Given the description of an element on the screen output the (x, y) to click on. 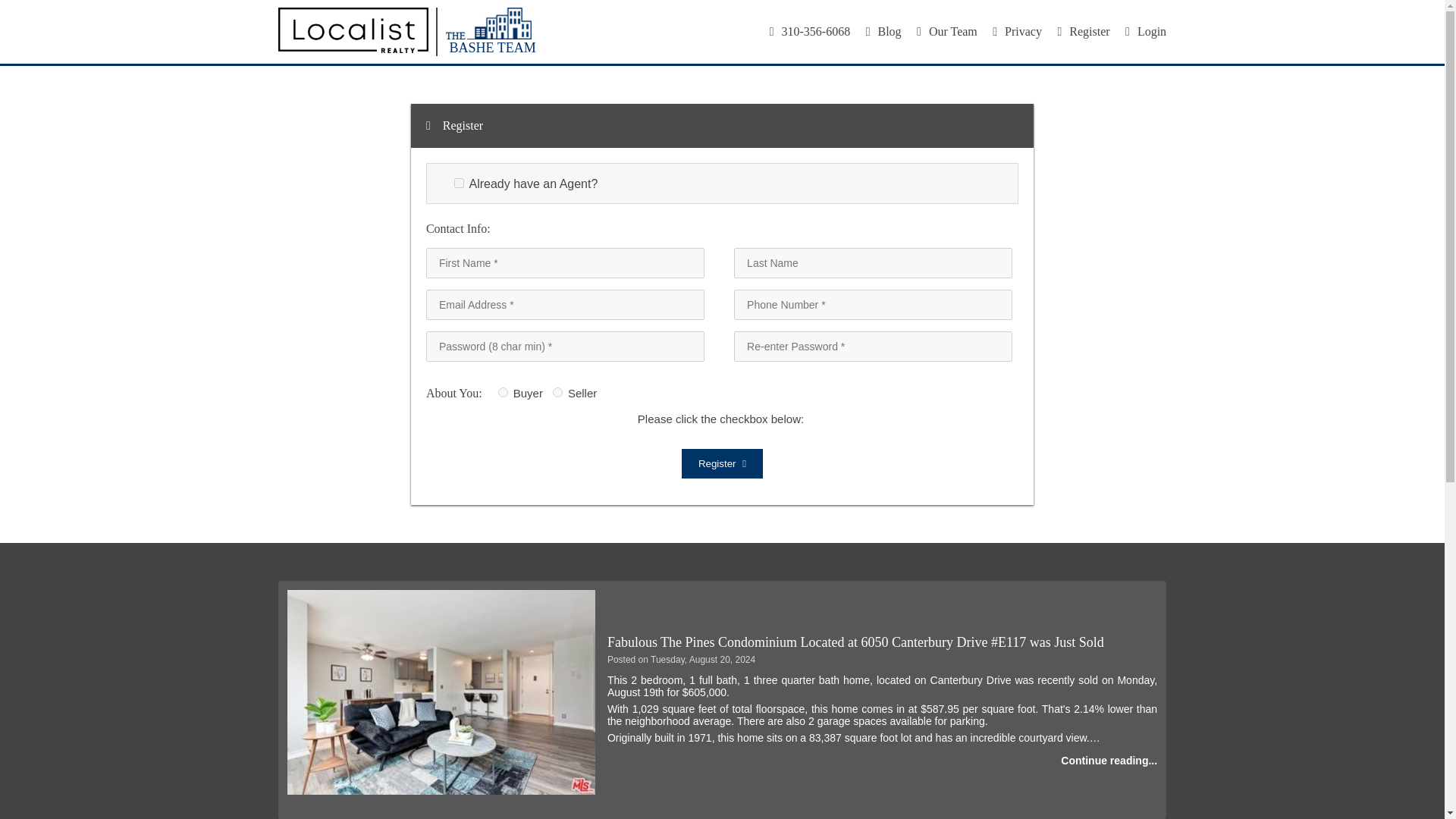
Login (1145, 31)
Blog (883, 31)
Buyer (502, 392)
8 character minimum (565, 346)
Seller (557, 392)
Privacy (1017, 31)
310-356-6068 (810, 31)
Our Team (946, 31)
Continue reading... (1109, 760)
Register (721, 463)
